Given the description of an element on the screen output the (x, y) to click on. 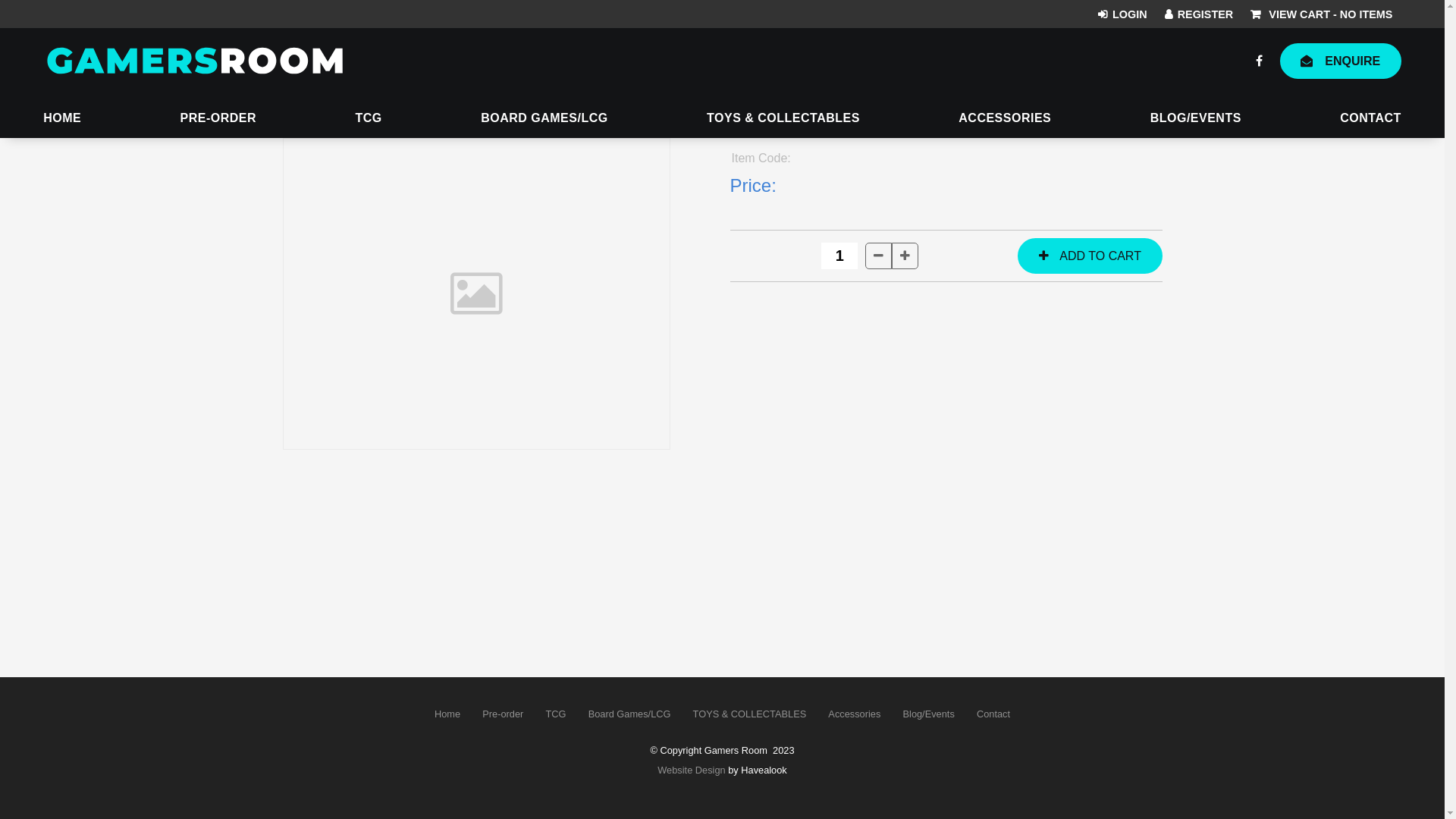
BLOG/EVENTS Element type: text (1195, 119)
Website Design Element type: text (690, 769)
HOME Element type: text (62, 119)
VIEW CART - NO ITEMS Element type: text (1320, 14)
CONTACT Element type: text (1370, 119)
TOYS & COLLECTABLES Element type: text (782, 119)
Pre-order Element type: text (502, 713)
Contact Element type: text (992, 713)
BOARD GAMES/LCG Element type: text (544, 119)
Board Games/LCG Element type: text (629, 713)
ENQUIRE Element type: text (1340, 60)
TCG Element type: text (367, 119)
ACCESSORIES Element type: text (1004, 119)
TOYS & COLLECTABLES Element type: text (749, 713)
Home Element type: text (447, 713)
Accessories Element type: text (855, 713)
PRE-ORDER Element type: text (218, 119)
Blog/Events Element type: text (928, 713)
TCG Element type: text (556, 713)
